Given the description of an element on the screen output the (x, y) to click on. 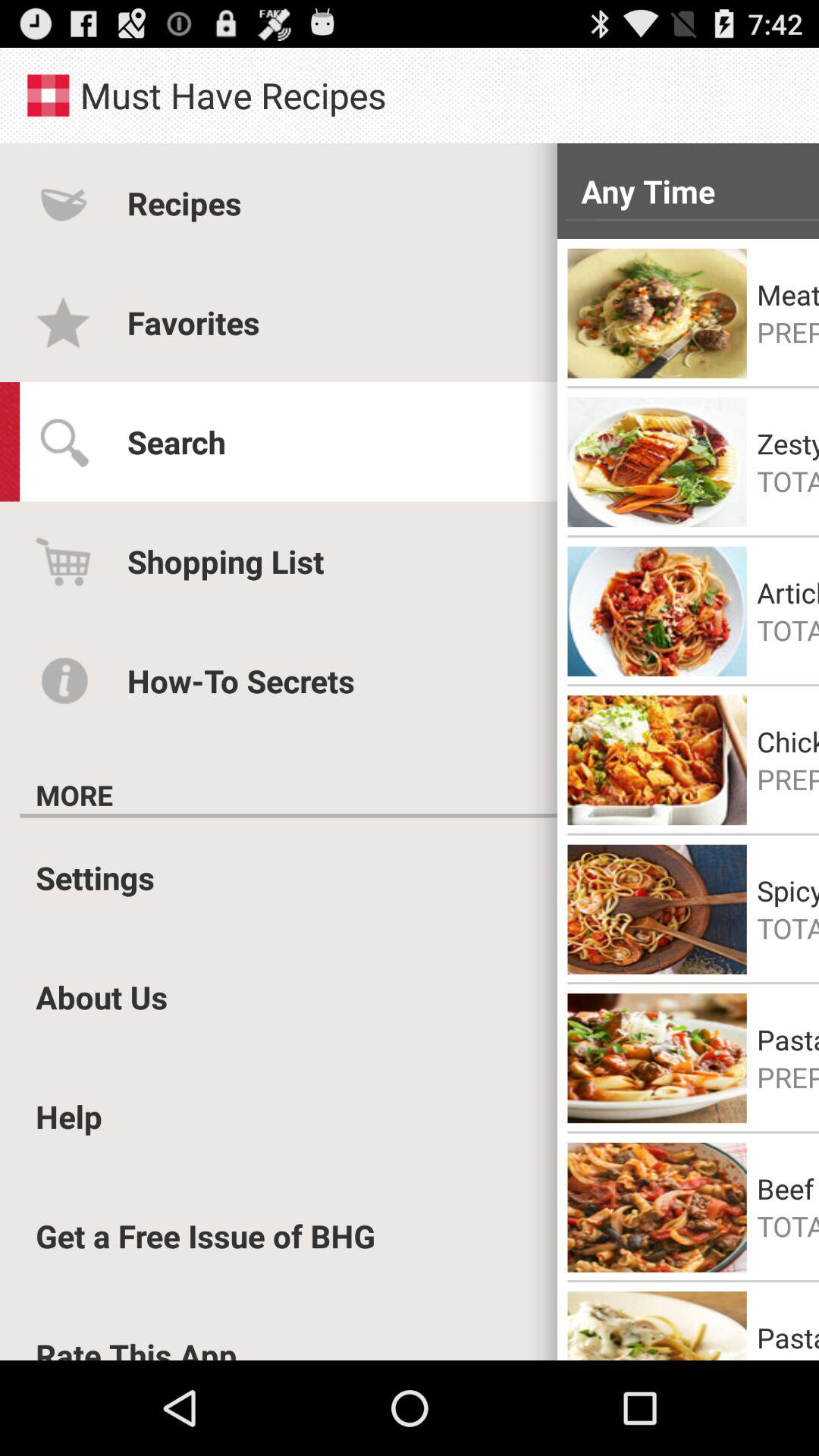
flip to the beef and pasta icon (788, 1188)
